Given the description of an element on the screen output the (x, y) to click on. 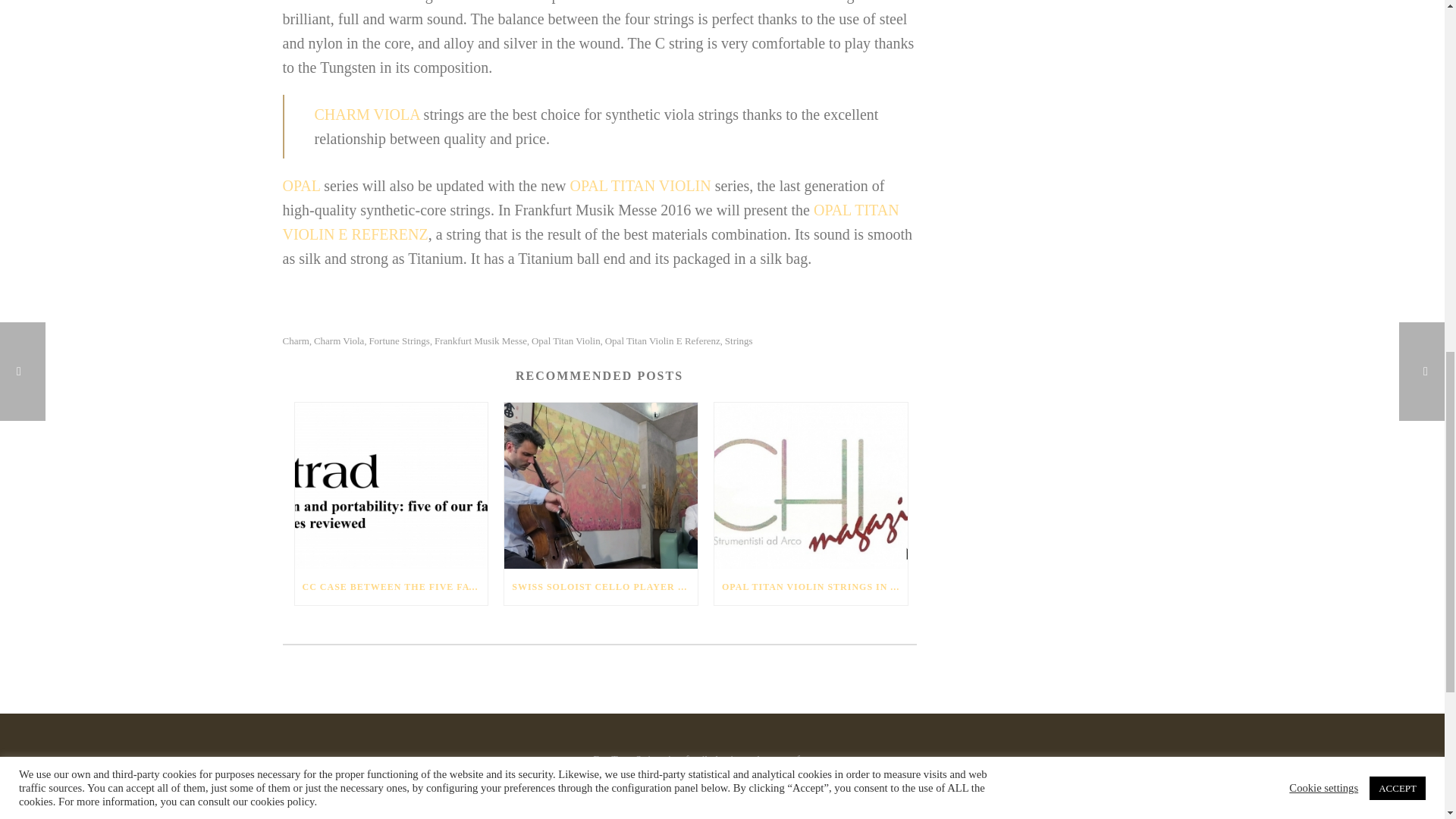
CHARM (635, 1)
Opal Titan violin strings in ARCHI magazine nov-des 2016 (810, 485)
CHARM (366, 1)
CHARM VIOLA (762, 1)
